Given the description of an element on the screen output the (x, y) to click on. 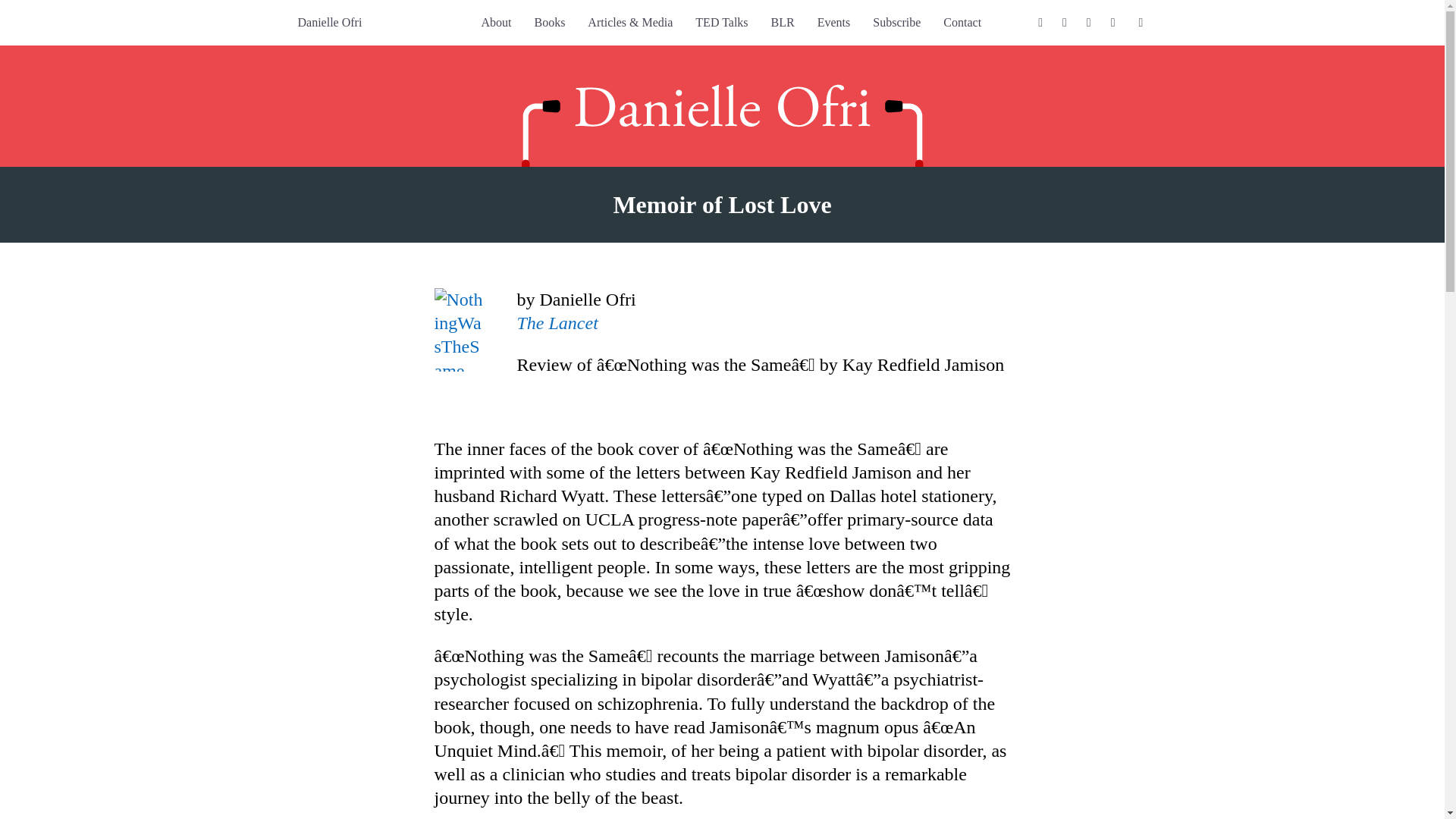
Danielle Ofri (329, 22)
BLR (783, 22)
Contact (961, 22)
Books (549, 22)
The Lancet (557, 322)
TED Talks (721, 22)
About (495, 22)
Subscribe (896, 22)
Events (833, 22)
